Given the description of an element on the screen output the (x, y) to click on. 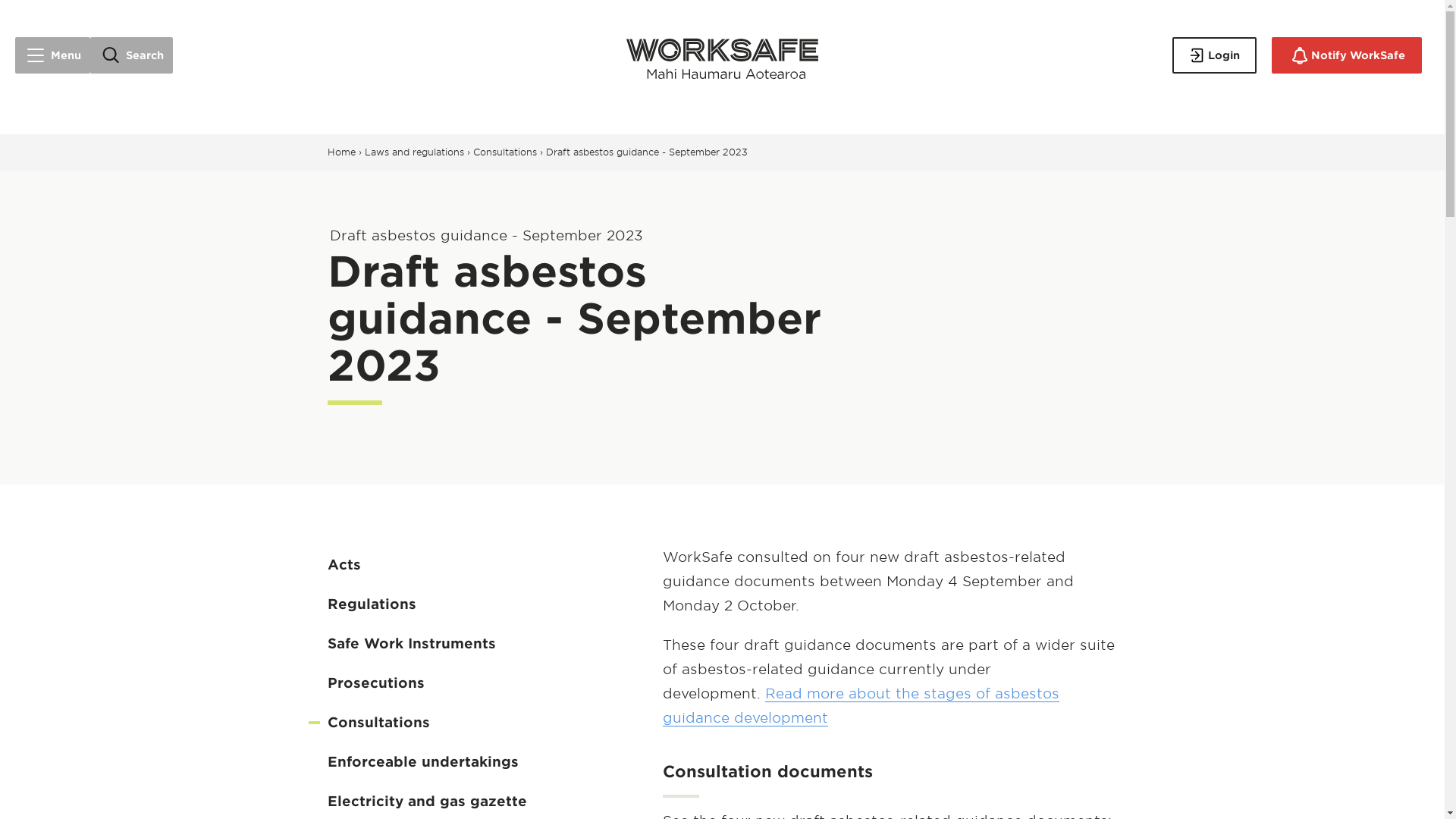
Link to home page (722, 54)
Login (1214, 54)
Notify WorkSafe (1346, 54)
Menu (52, 54)
Search (131, 54)
